Given the description of an element on the screen output the (x, y) to click on. 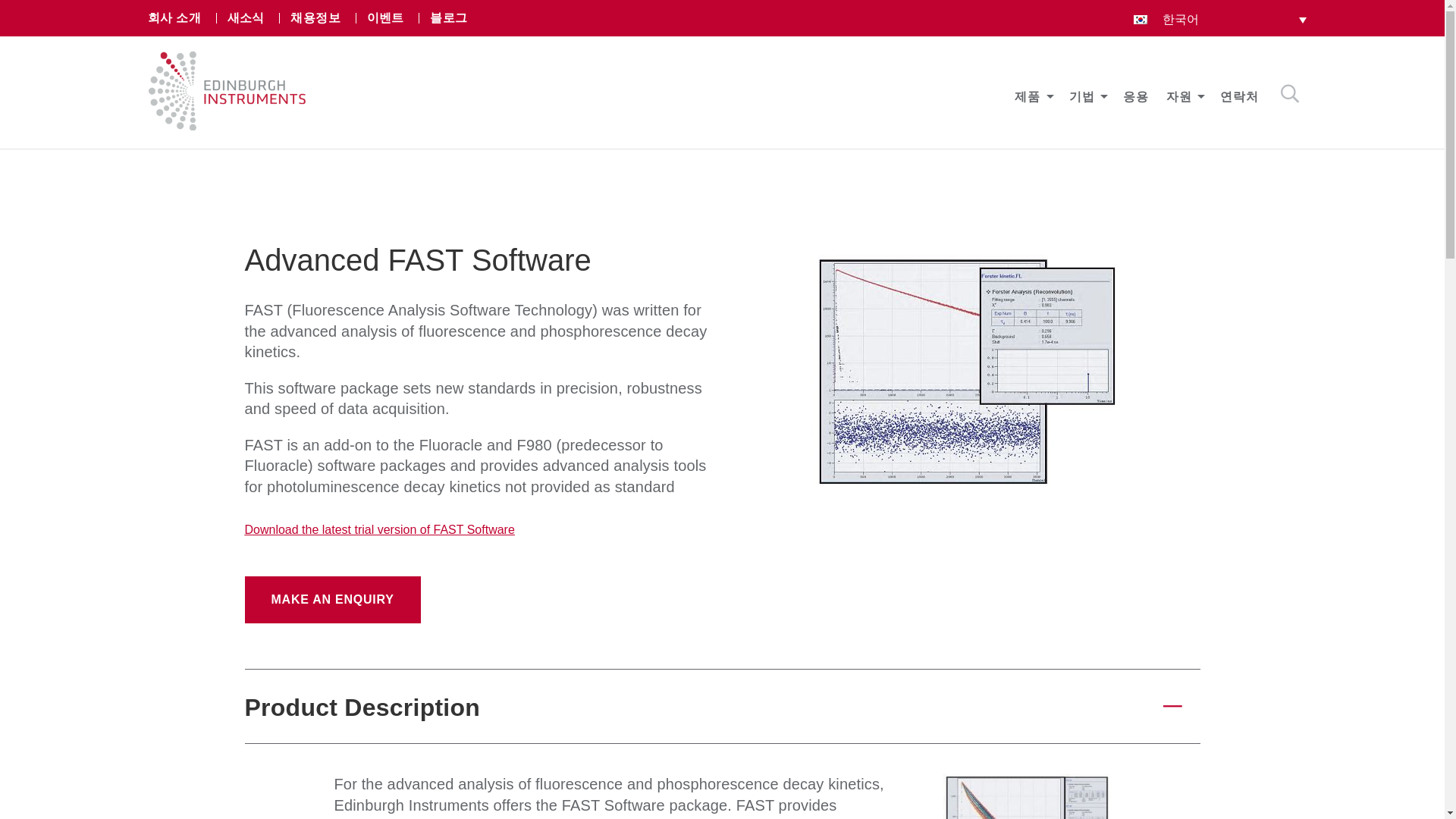
Edinburgh Instruments home page (226, 125)
search site (1288, 93)
Fluorescence lifetime decay  (1026, 796)
